Given the description of an element on the screen output the (x, y) to click on. 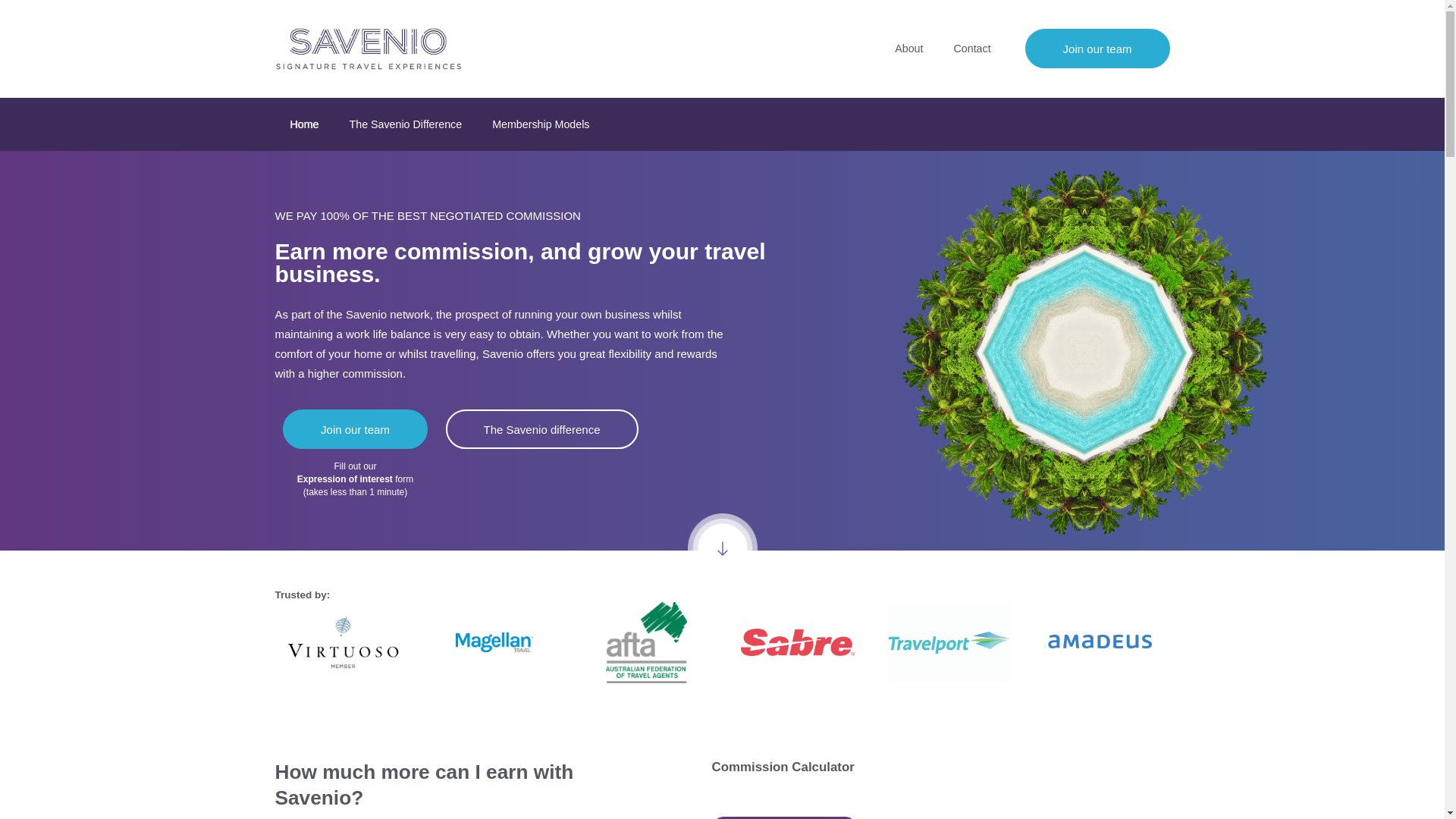
Contact (971, 47)
About (908, 47)
Home (304, 124)
The Savenio difference (542, 428)
Elite 100 Model (783, 817)
The Savenio Difference (405, 124)
Join our team (355, 428)
Membership Models (540, 124)
Join our team (1097, 47)
